Given the description of an element on the screen output the (x, y) to click on. 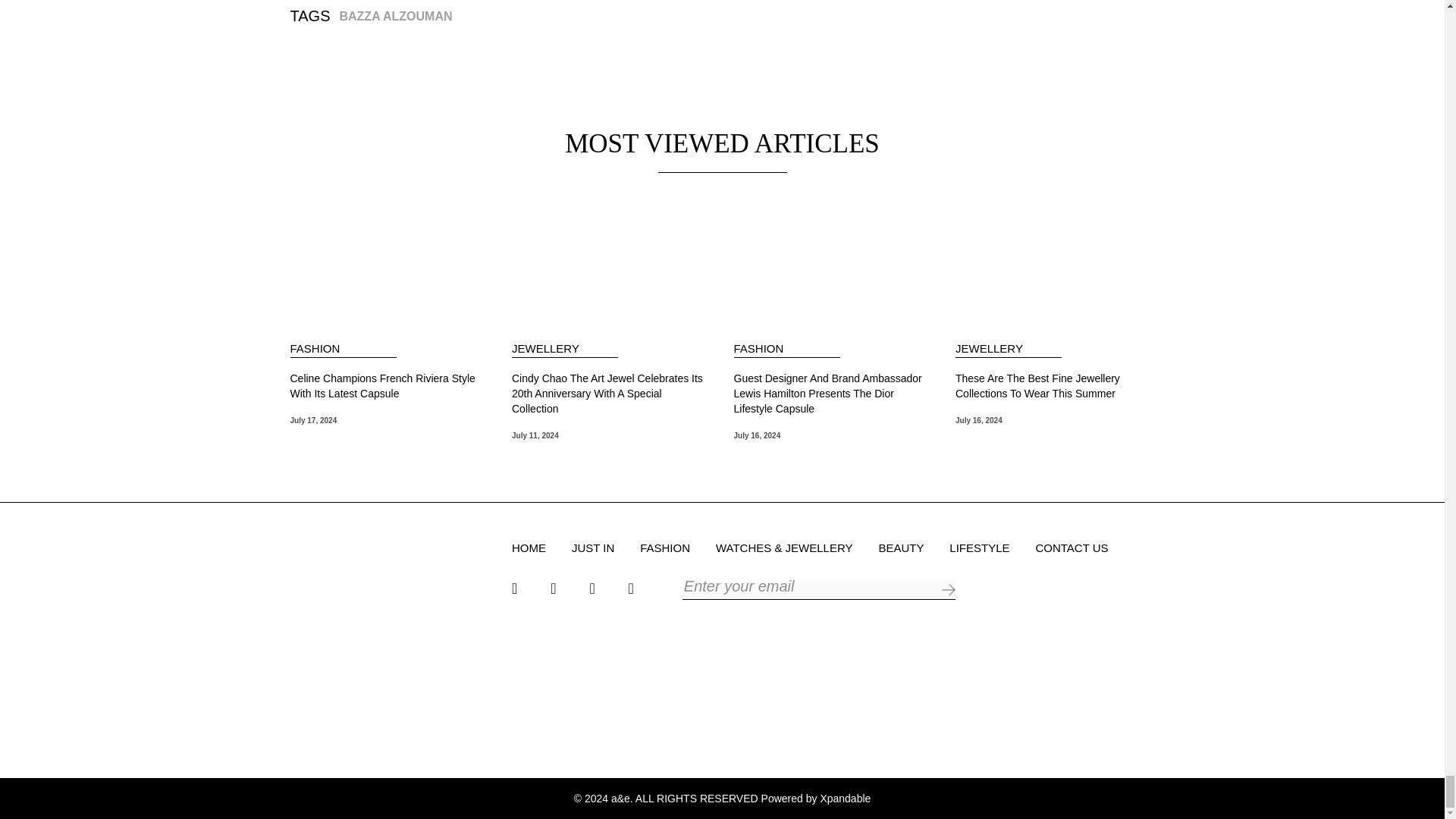
BAZZA ALZOUMAN (395, 15)
submit (948, 589)
